Given the description of an element on the screen output the (x, y) to click on. 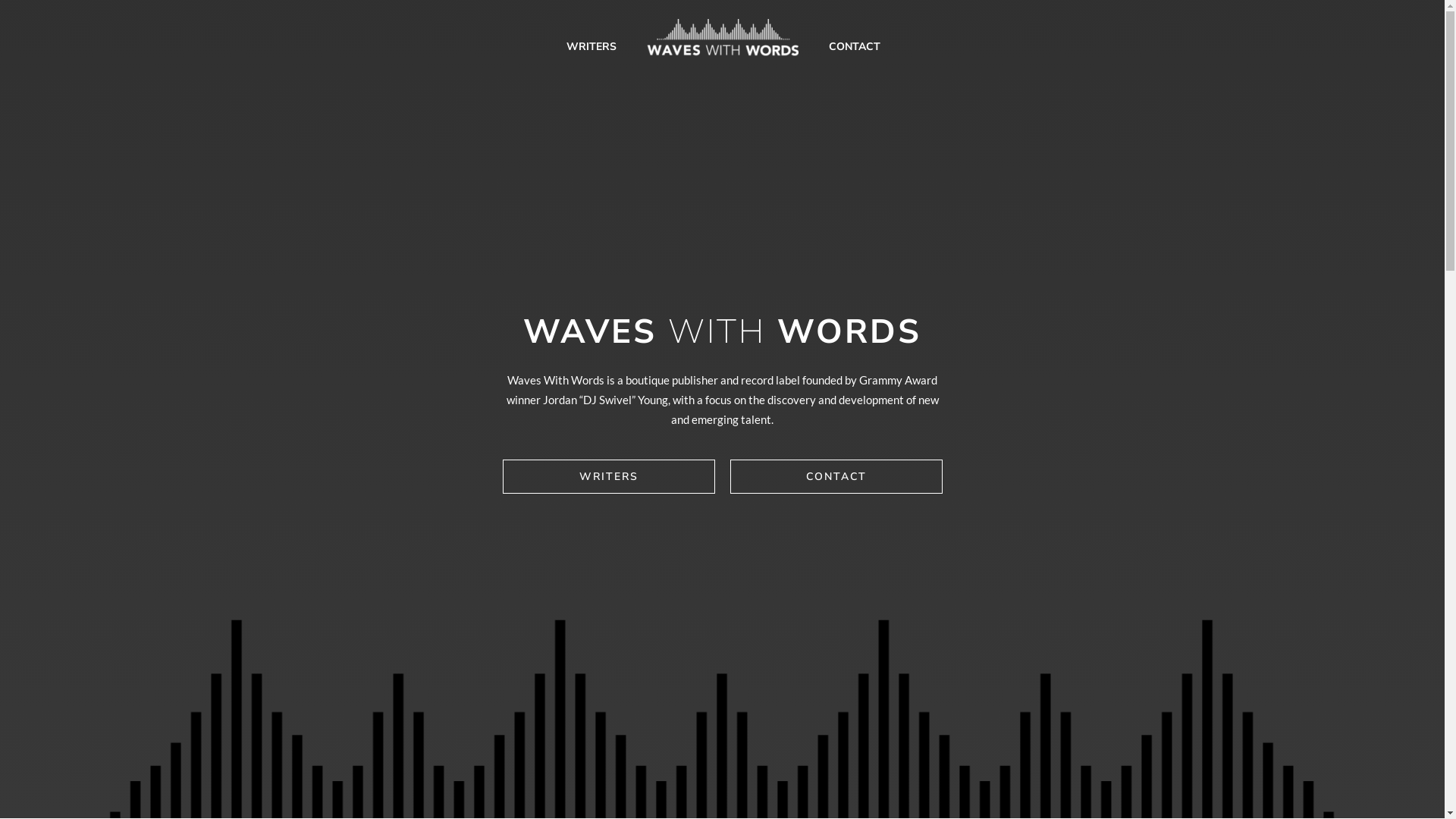
WRITERS Element type: text (608, 476)
CONTACT Element type: text (853, 37)
CONTACT Element type: text (835, 476)
WRITERS Element type: text (590, 37)
